Given the description of an element on the screen output the (x, y) to click on. 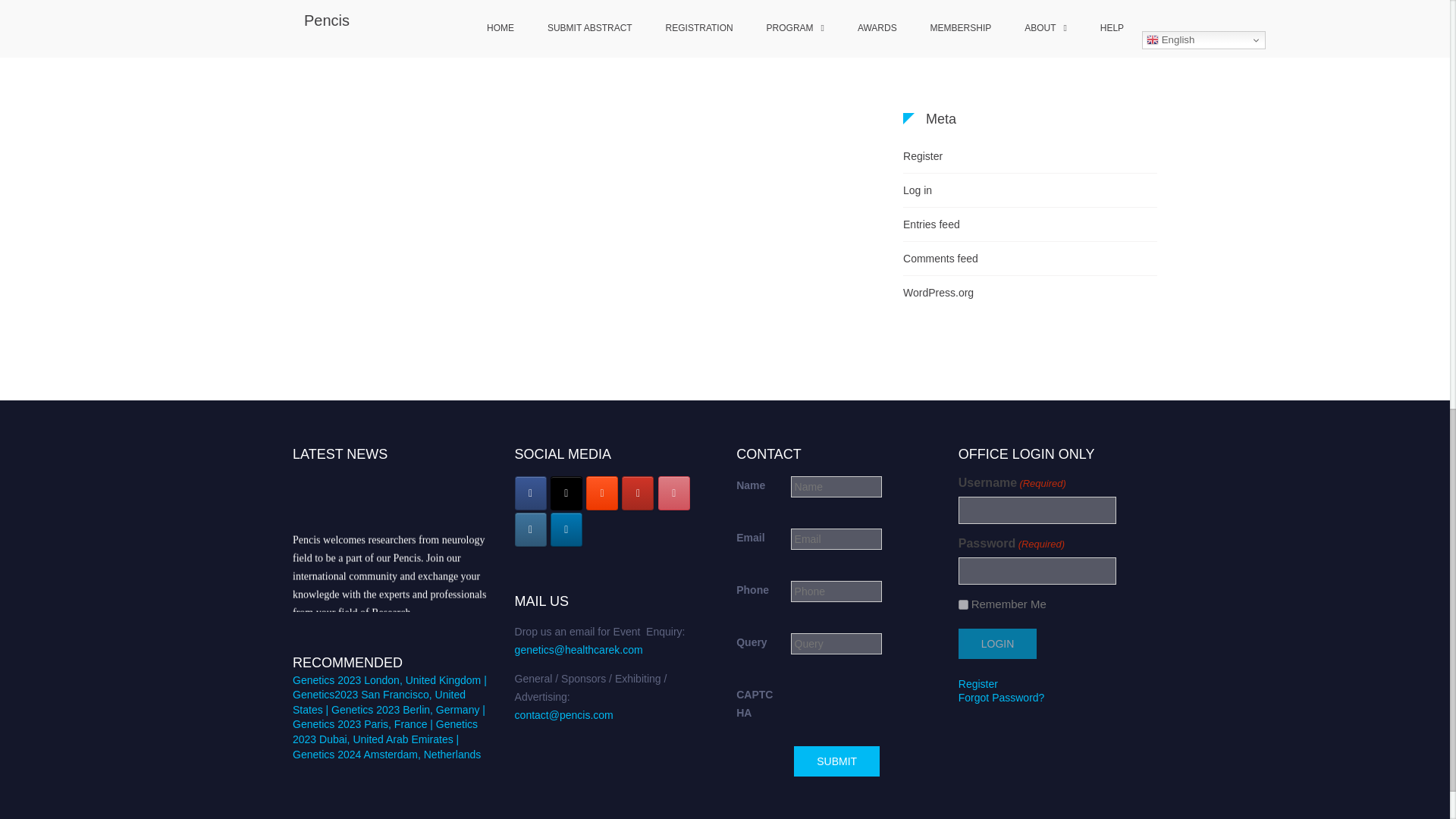
Pencis on Blogger B (601, 492)
Login (997, 643)
Pencis on Youtube (637, 492)
Submit (836, 761)
Pencis on Pinterest (674, 492)
Pencis on Facebook (531, 492)
Pencis on X Twitter (566, 492)
1 (963, 604)
Pencis on Instagram (531, 529)
